Given the description of an element on the screen output the (x, y) to click on. 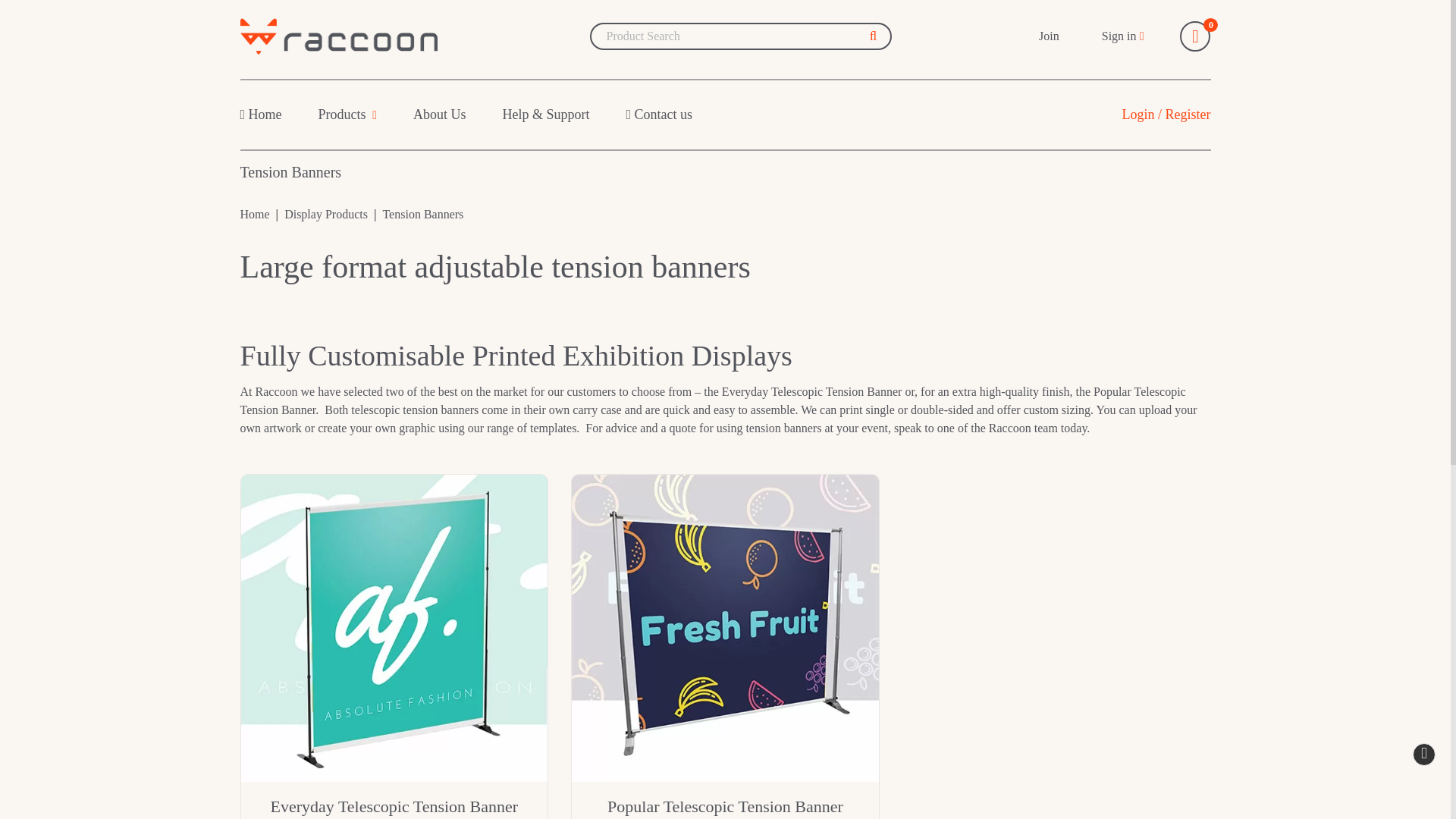
Everyday Telescopic Tension Banner (394, 628)
Products (346, 114)
Join (1045, 35)
About Us (439, 114)
Sign in (1123, 35)
Contact us (659, 114)
Sign in (1123, 35)
Popular Telescopic Tension Banner (725, 628)
